Given the description of an element on the screen output the (x, y) to click on. 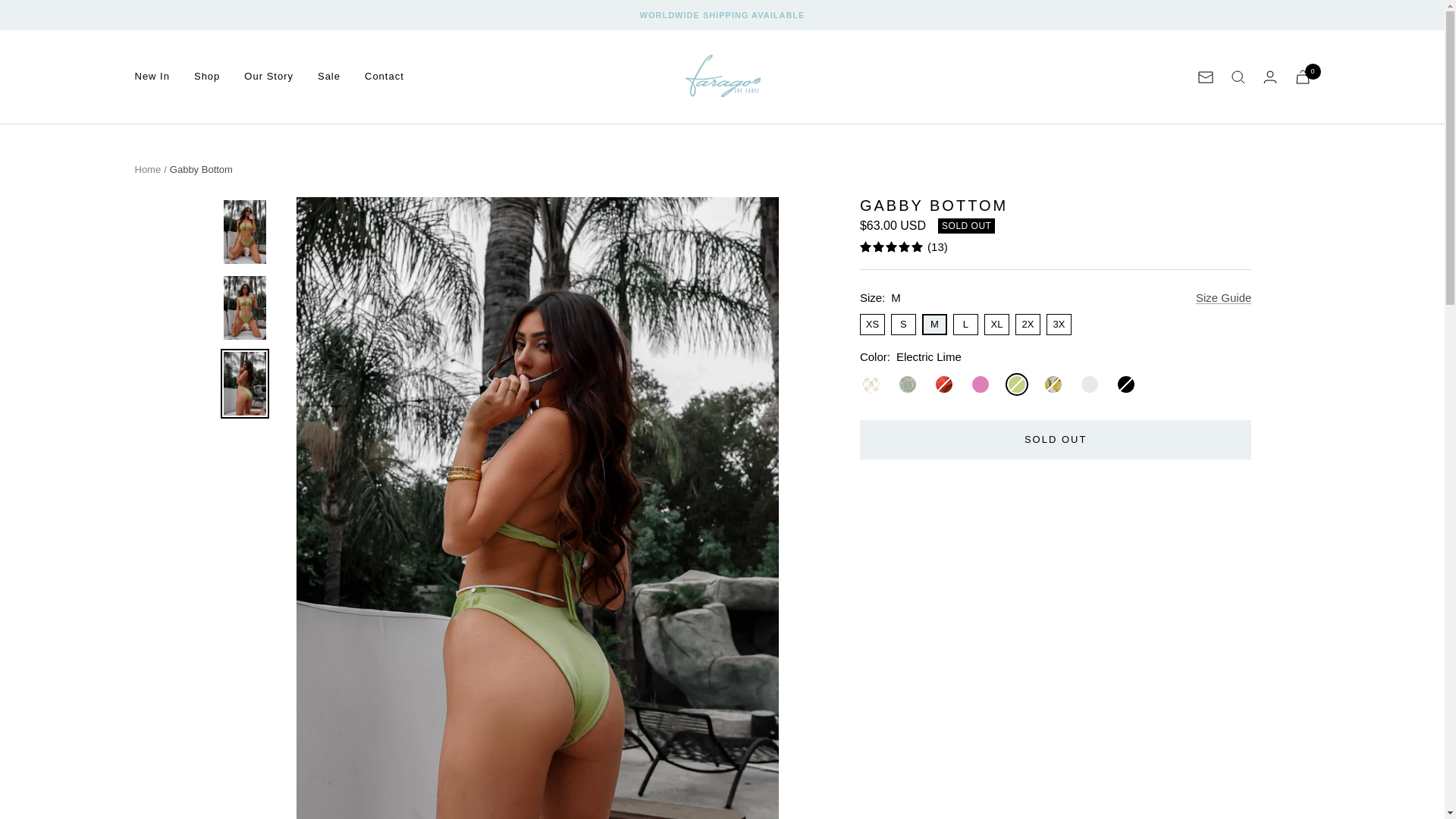
0 (1302, 76)
New In (152, 76)
Sale (328, 76)
Our Story (269, 76)
Contact (384, 76)
